Given the description of an element on the screen output the (x, y) to click on. 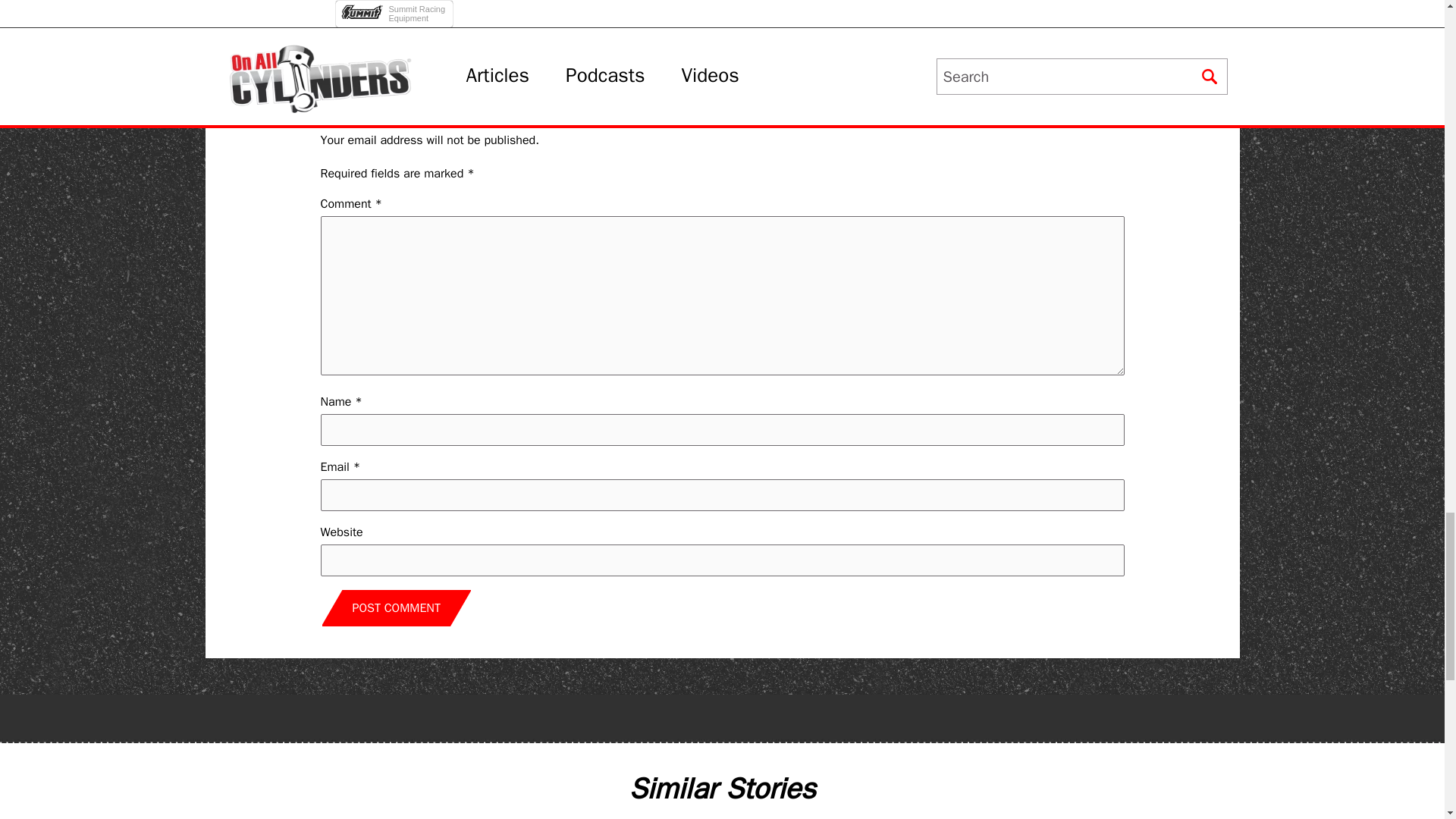
Post Comment (395, 608)
